Given the description of an element on the screen output the (x, y) to click on. 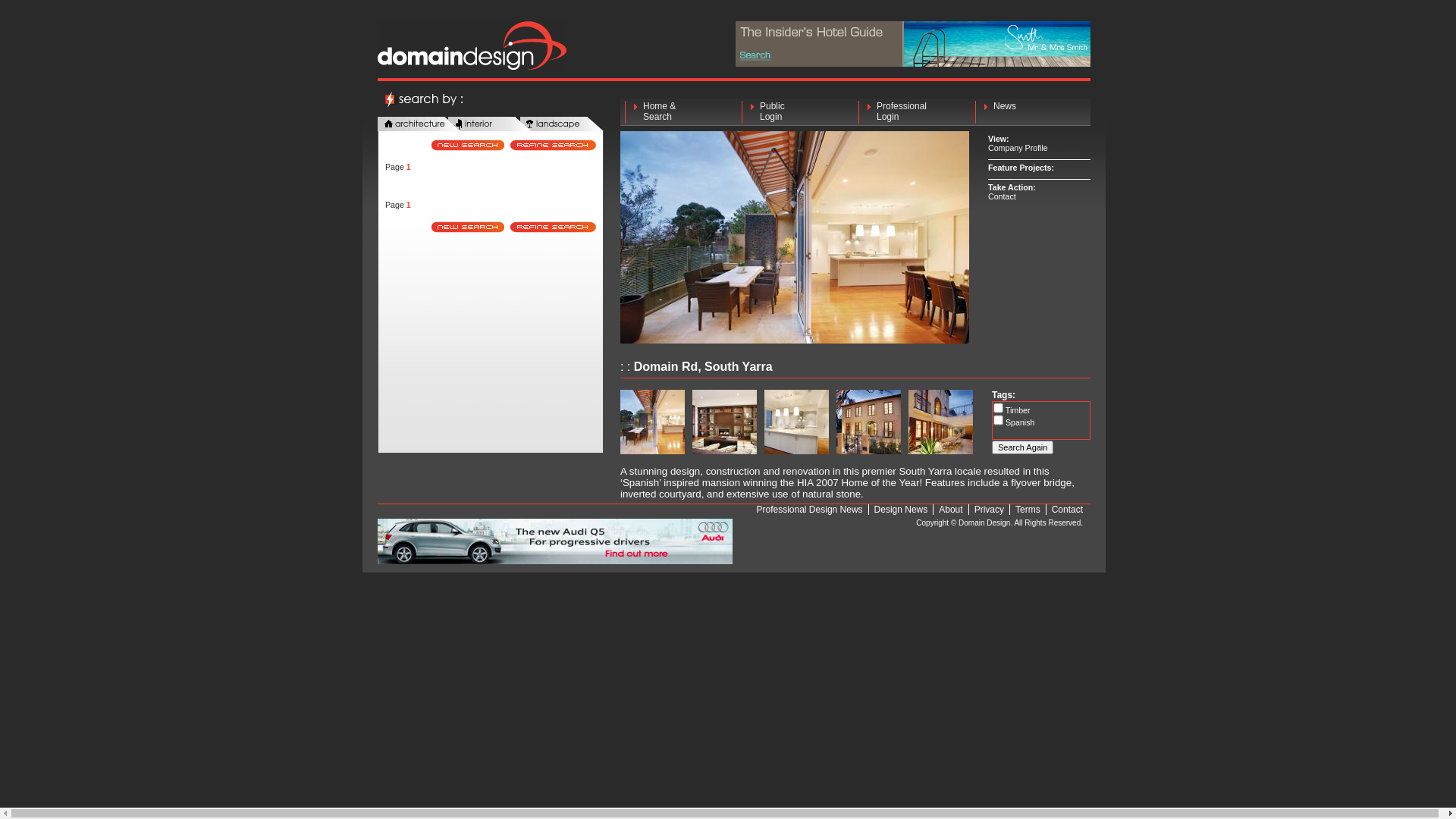
architecture Element type: text (419, 124)
Home &
Search Element type: text (679, 111)
Professional Design News Element type: text (809, 509)
News
  Element type: text (1029, 111)
Terms Element type: text (1027, 509)
Search Again Element type: text (1022, 447)
landscape Element type: text (561, 124)
Professional
Login Element type: text (912, 111)
interior Element type: text (489, 124)
1 Element type: text (408, 204)
Privacy Element type: text (989, 509)
Public
Login Element type: text (795, 111)
Company Profile Element type: text (1018, 147)
Design News Element type: text (901, 509)
Contact Element type: text (1002, 195)
Contact Element type: text (1066, 509)
1 Element type: text (408, 166)
About Element type: text (950, 509)
